Given the description of an element on the screen output the (x, y) to click on. 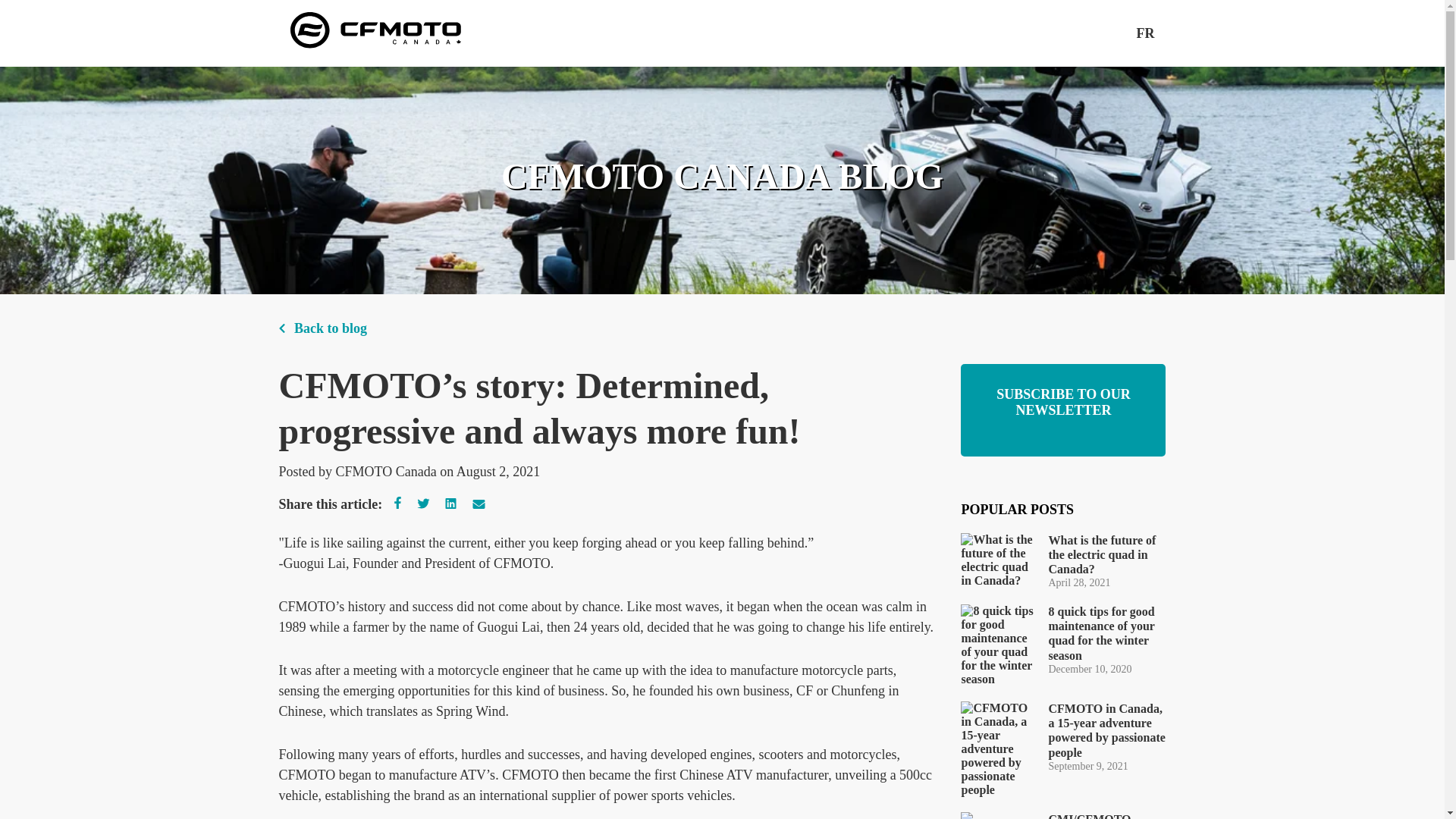
What is the future of the electric quad in Canada? (1107, 555)
Back to blog (323, 328)
FR (1144, 33)
CFMOTO Canada (386, 471)
